Given the description of an element on the screen output the (x, y) to click on. 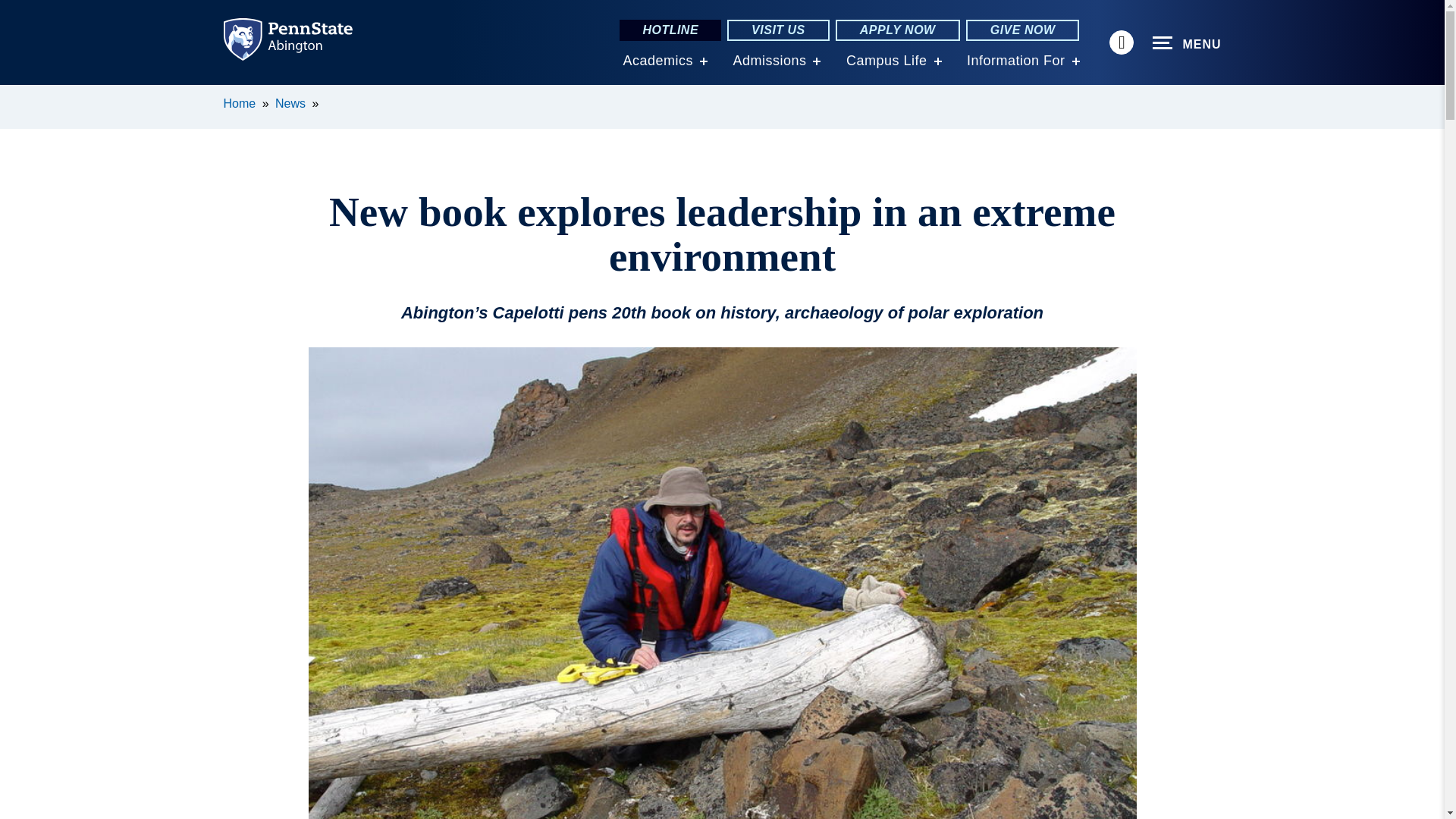
Campus Life (886, 60)
Admissions (769, 60)
HOTLINE (670, 29)
GIVE NOW (1023, 29)
VISIT US (777, 29)
SKIP TO MAIN CONTENT (19, 95)
MENU (1187, 43)
APPLY NOW (897, 29)
Academics (658, 60)
